Given the description of an element on the screen output the (x, y) to click on. 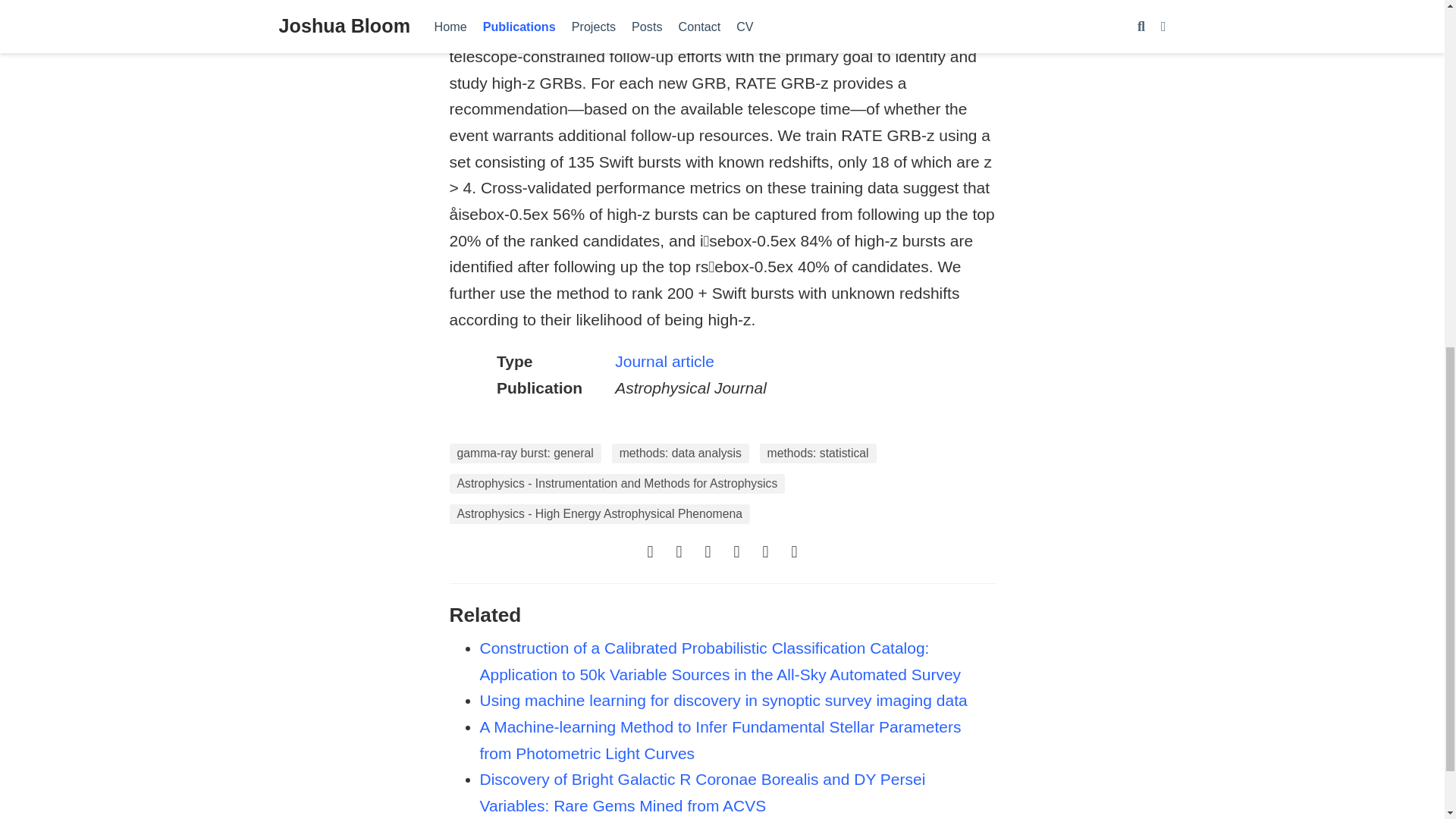
Astrophysics - Instrumentation and Methods for Astrophysics (616, 483)
methods: statistical (818, 453)
gamma-ray burst: general (523, 453)
Astrophysics - High Energy Astrophysical Phenomena (598, 514)
Journal article (664, 361)
methods: data analysis (680, 453)
